Given the description of an element on the screen output the (x, y) to click on. 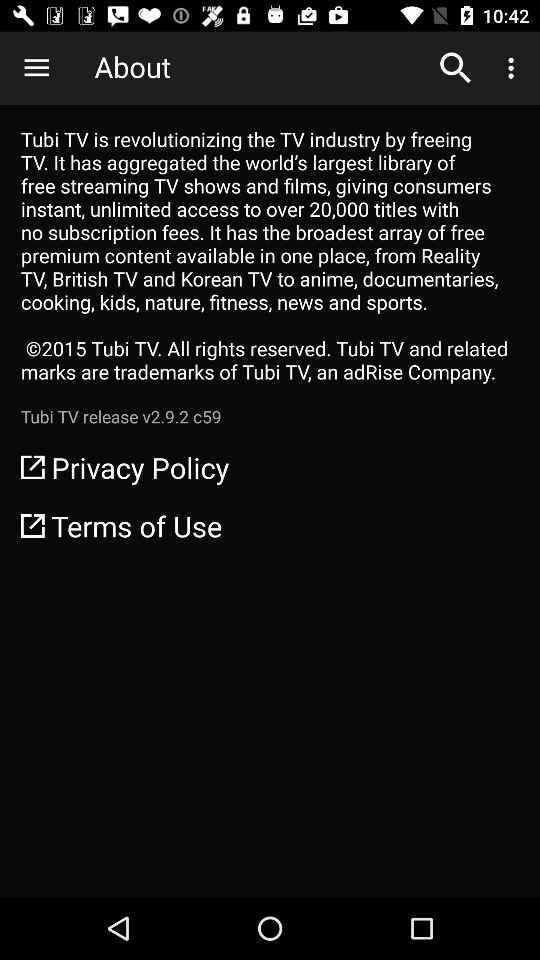
turn on privacy policy item (270, 467)
